Given the description of an element on the screen output the (x, y) to click on. 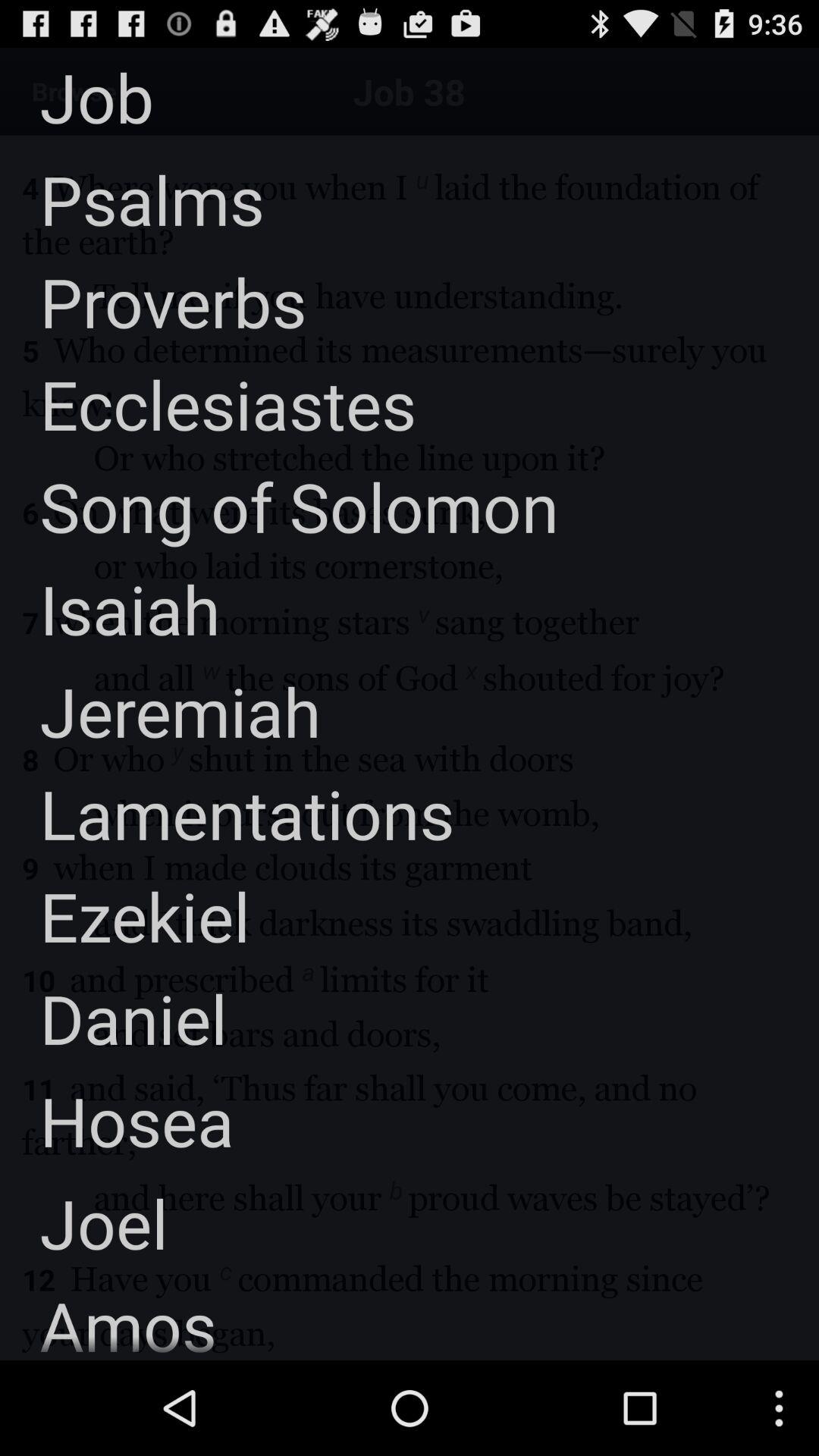
flip to the lamentations icon (227, 813)
